Given the description of an element on the screen output the (x, y) to click on. 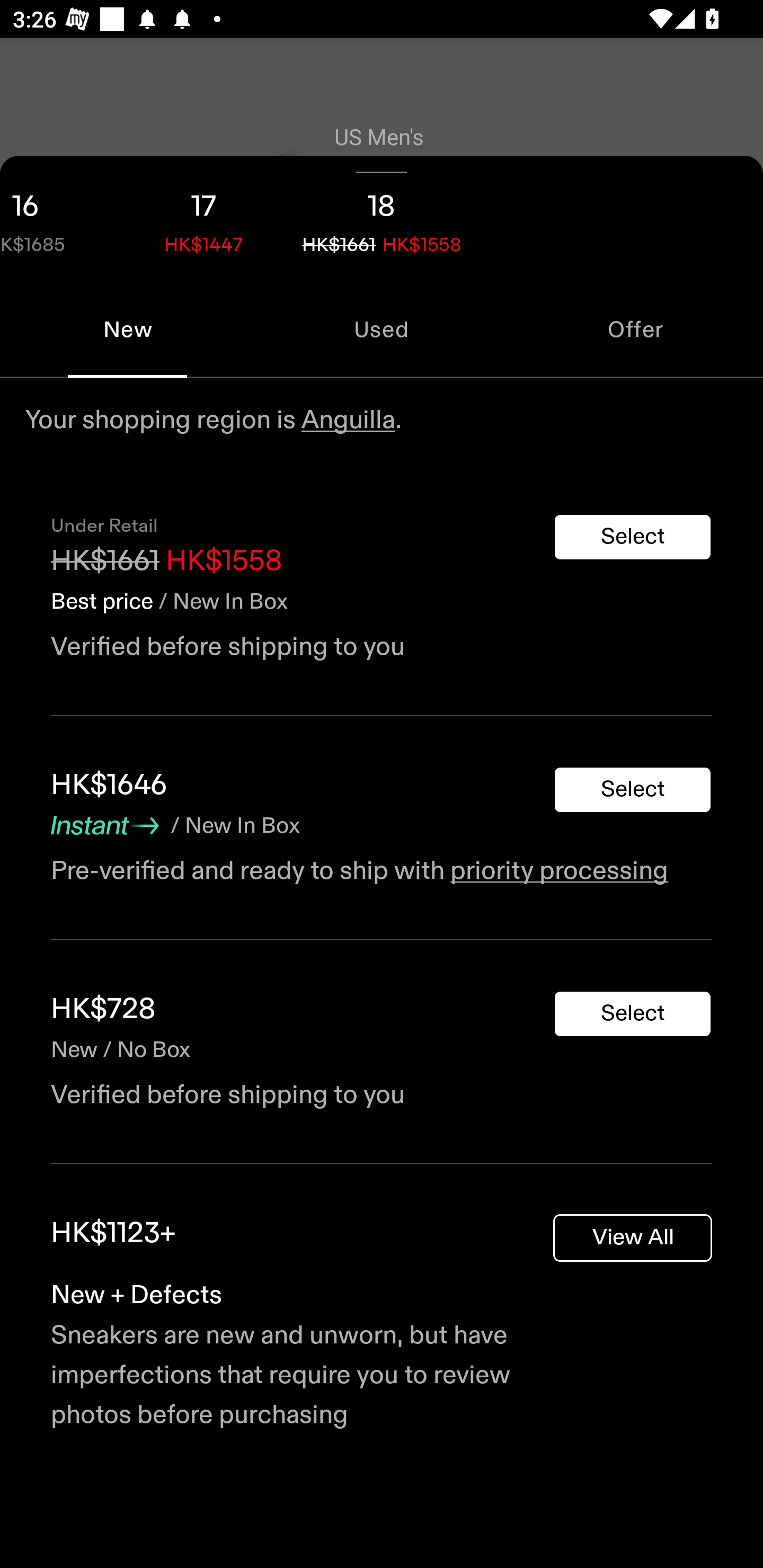
16 HK$1685 (57, 218)
17 HK$1447 (203, 218)
18 HK$1661 HK$1558 (381, 218)
Used (381, 329)
Offer (635, 329)
Select (632, 536)
HK$1646 (109, 785)
Select (632, 789)
Select (632, 1013)
View All (632, 1237)
